Given the description of an element on the screen output the (x, y) to click on. 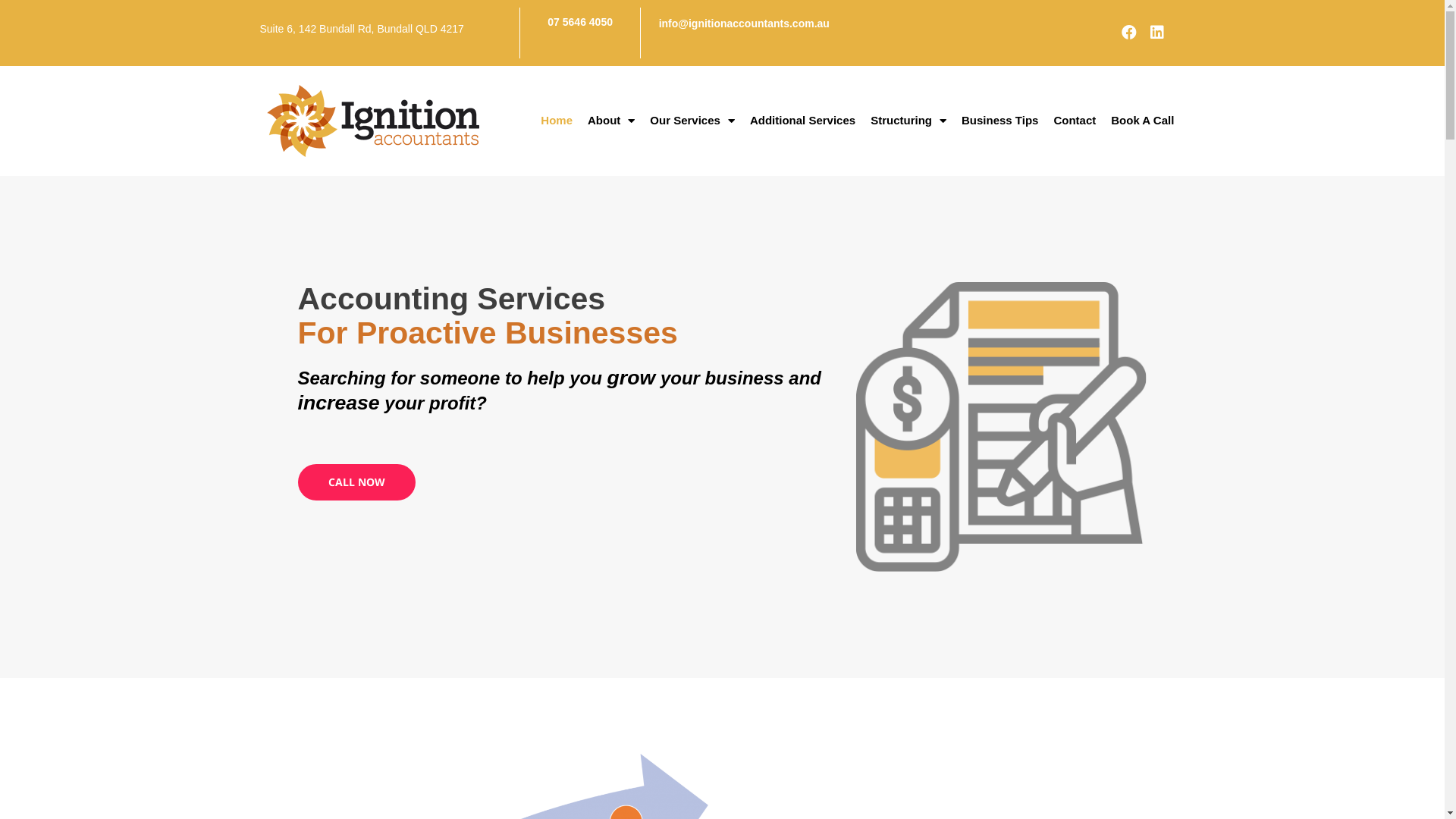
Linkedin Element type: text (1157, 32)
Additional Services Element type: text (802, 120)
About Element type: text (611, 120)
CALL NOW Element type: text (355, 482)
Facebook Element type: text (1129, 32)
Structuring Element type: text (907, 120)
Business Tips Element type: text (999, 120)
Book A Call Element type: text (1142, 120)
Home Element type: text (556, 120)
Our Services Element type: text (692, 120)
Contact Element type: text (1074, 120)
